Given the description of an element on the screen output the (x, y) to click on. 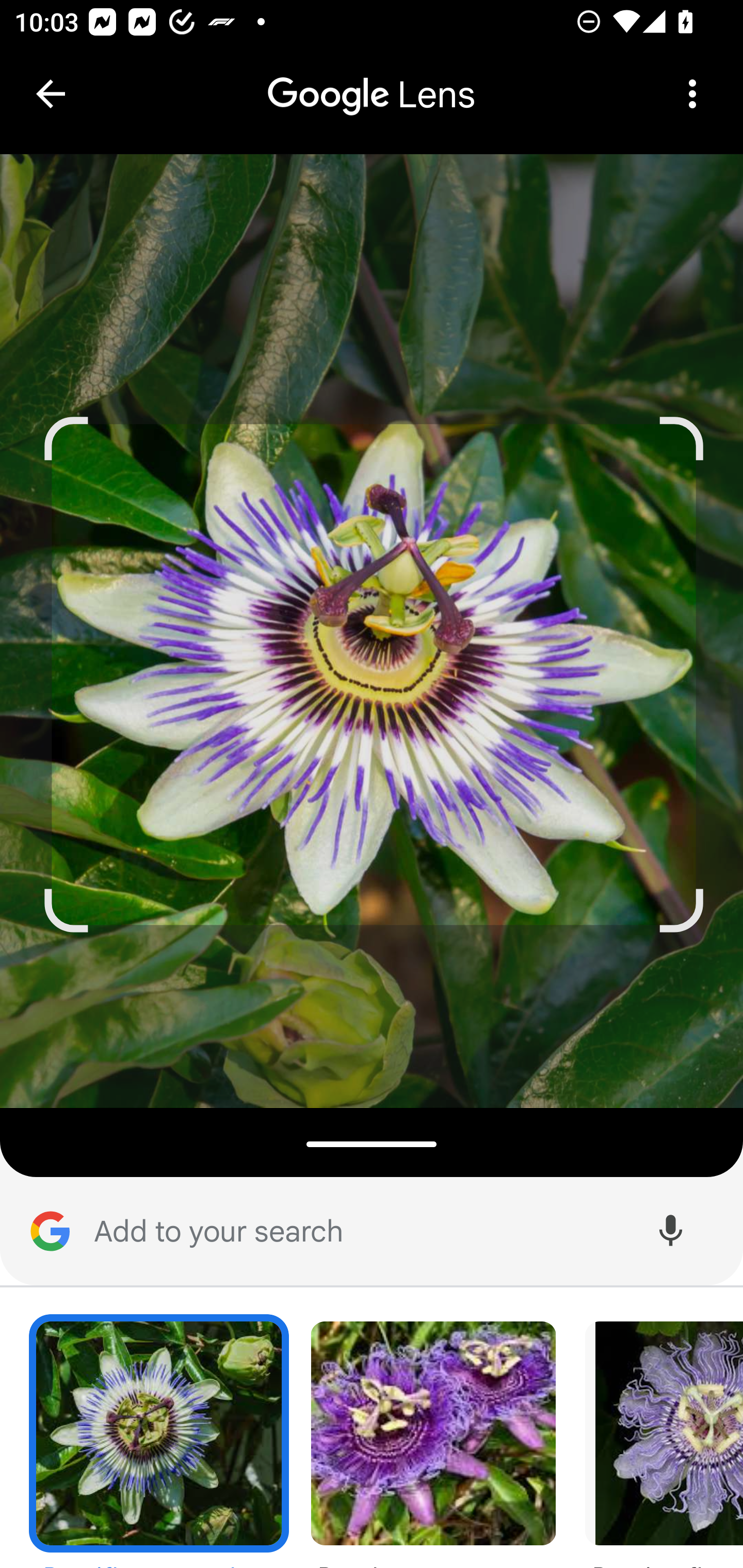
Google Lens Lens (371, 80)
Go back (50, 94)
More options (692, 94)
Voice Search (670, 1231)
Show results for Passiflora caerulea (158, 1440)
Show results for Purple passionflower (433, 1440)
Show results for Passion flowers (660, 1440)
